Given the description of an element on the screen output the (x, y) to click on. 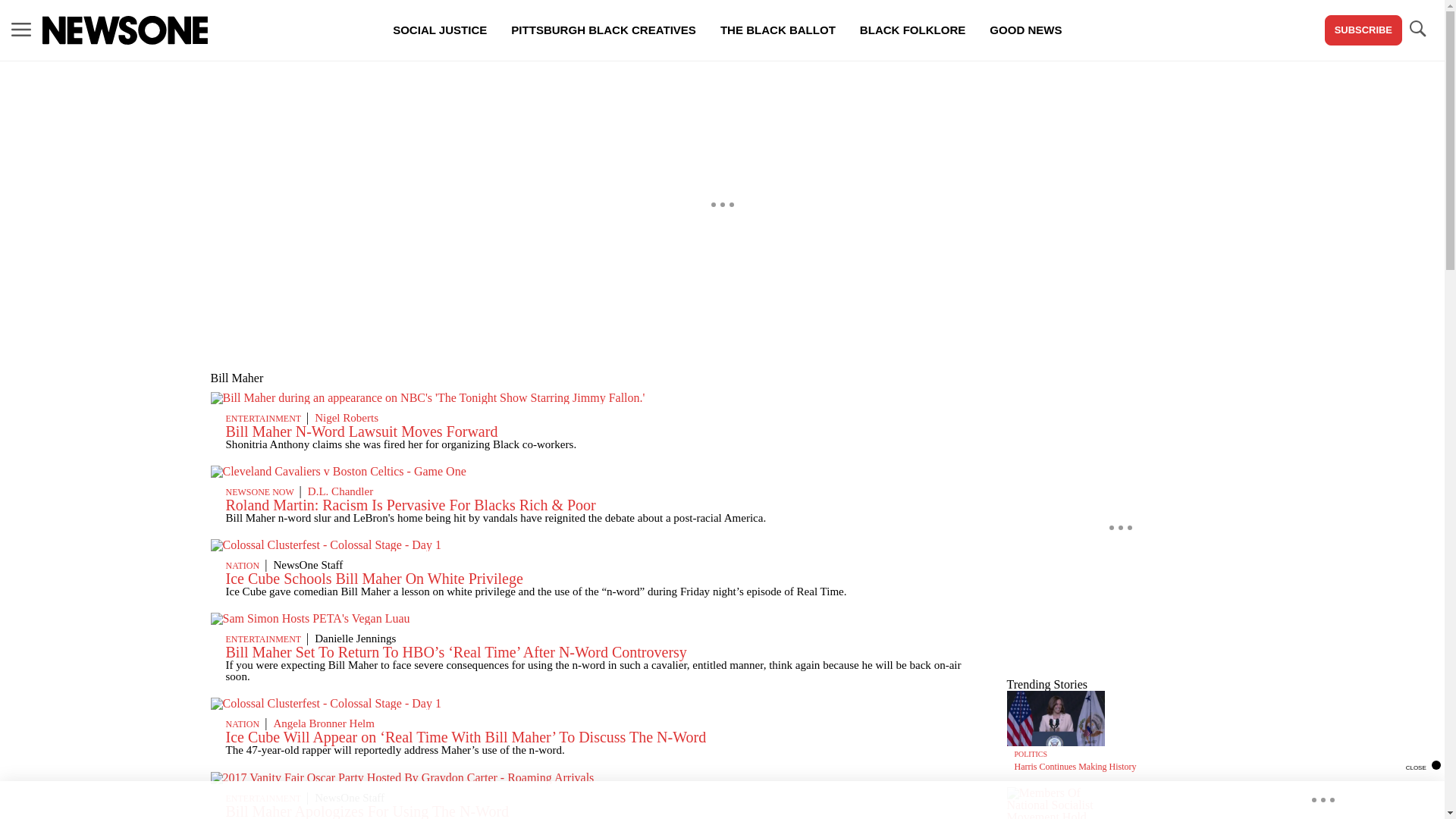
GOOD NEWS (1025, 30)
NEWSONE NOW (259, 491)
SOCIAL JUSTICE (439, 30)
THE BLACK BALLOT (777, 30)
TOGGLE SEARCH (1417, 30)
ENTERTAINMENT (263, 418)
BLACK FOLKLORE (911, 30)
Angela Bronner Helm (323, 723)
NATION (242, 724)
Nigel Roberts (346, 417)
Bill Maher Apologizes For Using The N-Word (367, 811)
MENU (20, 30)
Bill Maher N-Word Lawsuit Moves Forward (361, 431)
MENU (20, 29)
Ice Cube Schools Bill Maher On White Privilege (373, 578)
